Given the description of an element on the screen output the (x, y) to click on. 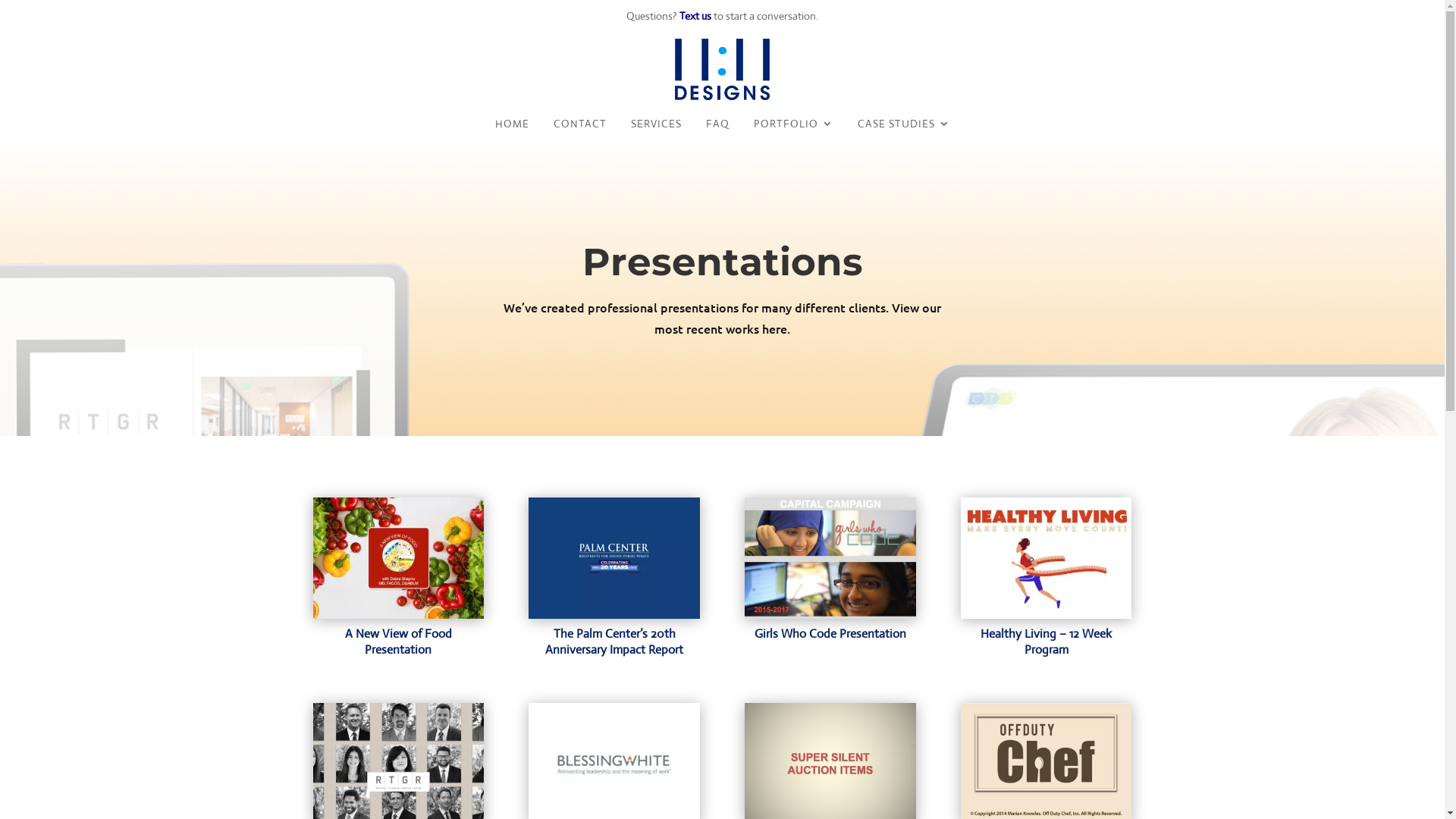
PORTFOLIO Element type: text (793, 127)
CONTACT Element type: text (579, 127)
1111 logo master copy 4 Element type: hover (721, 69)
Girls Who Code Presentation Element type: hover (829, 557)
A New View of Food Presentation Element type: text (398, 641)
FAQ Element type: text (716, 127)
A New View of Food Presentation Element type: hover (397, 557)
HOME Element type: text (511, 127)
CASE STUDIES Element type: text (902, 127)
SERVICES Element type: text (655, 127)
Girls Who Code Presentation Element type: text (830, 633)
Text us Element type: text (696, 15)
